Given the description of an element on the screen output the (x, y) to click on. 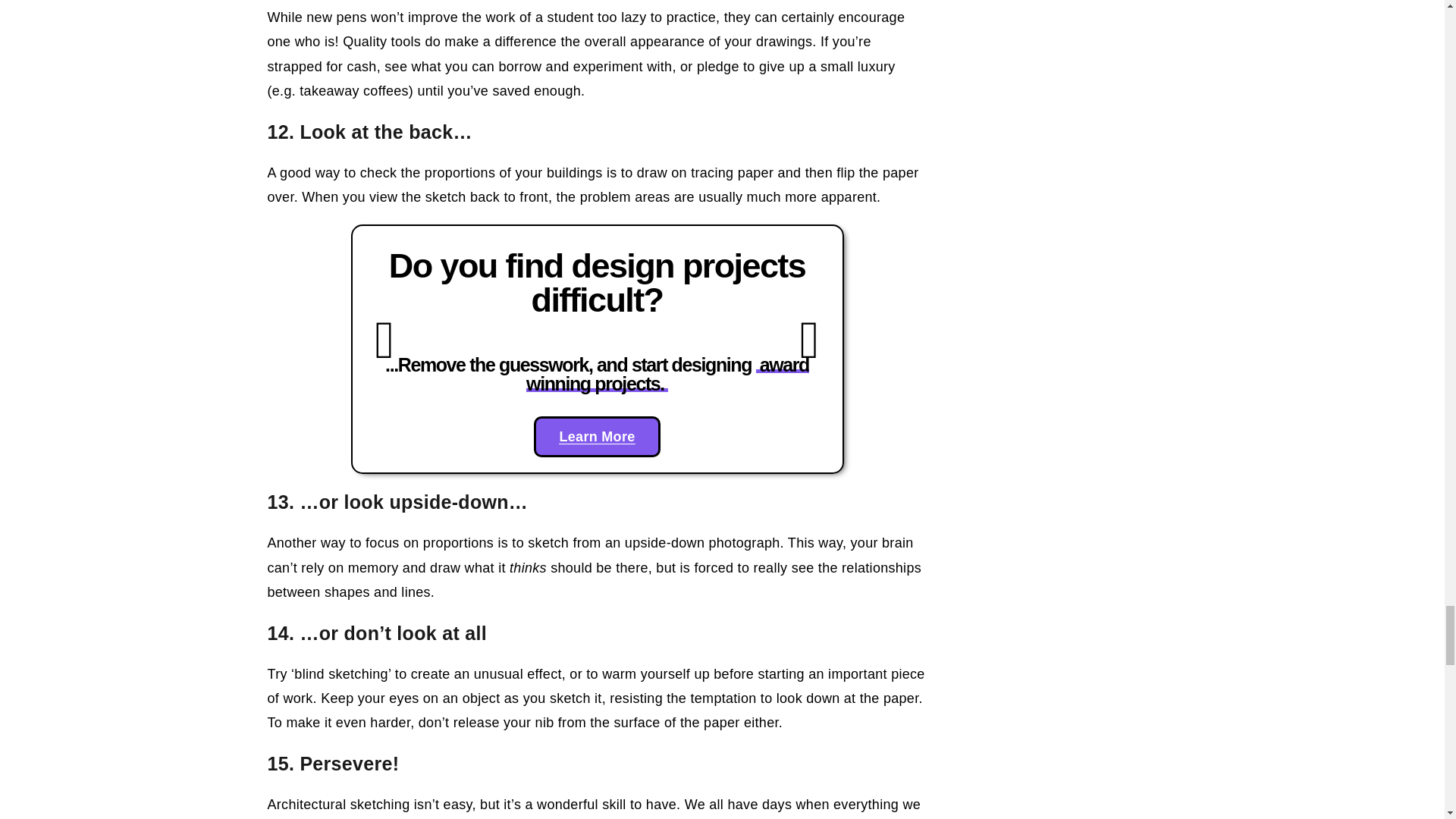
Learn More (596, 436)
